Given the description of an element on the screen output the (x, y) to click on. 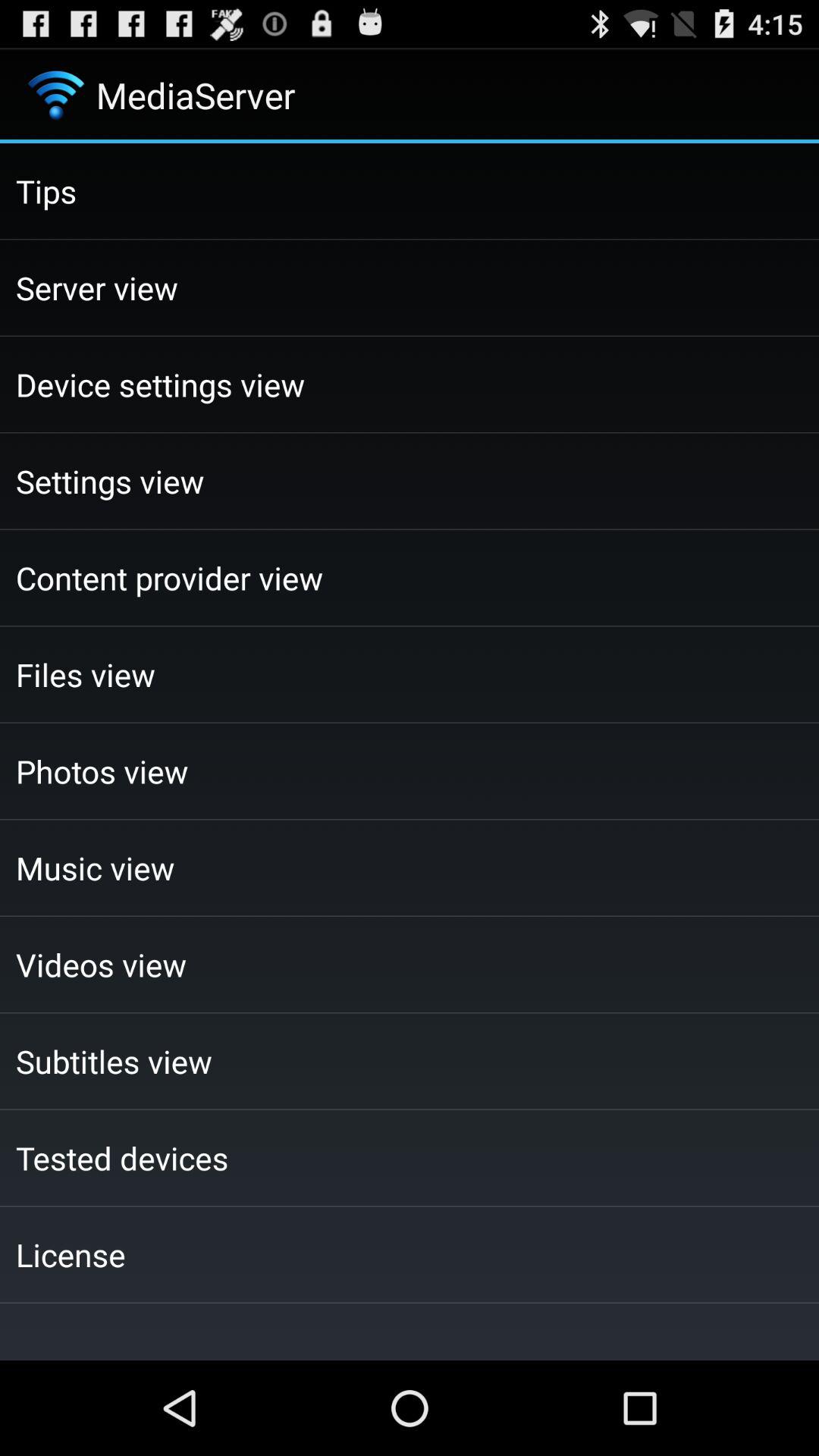
turn on files view checkbox (409, 674)
